Given the description of an element on the screen output the (x, y) to click on. 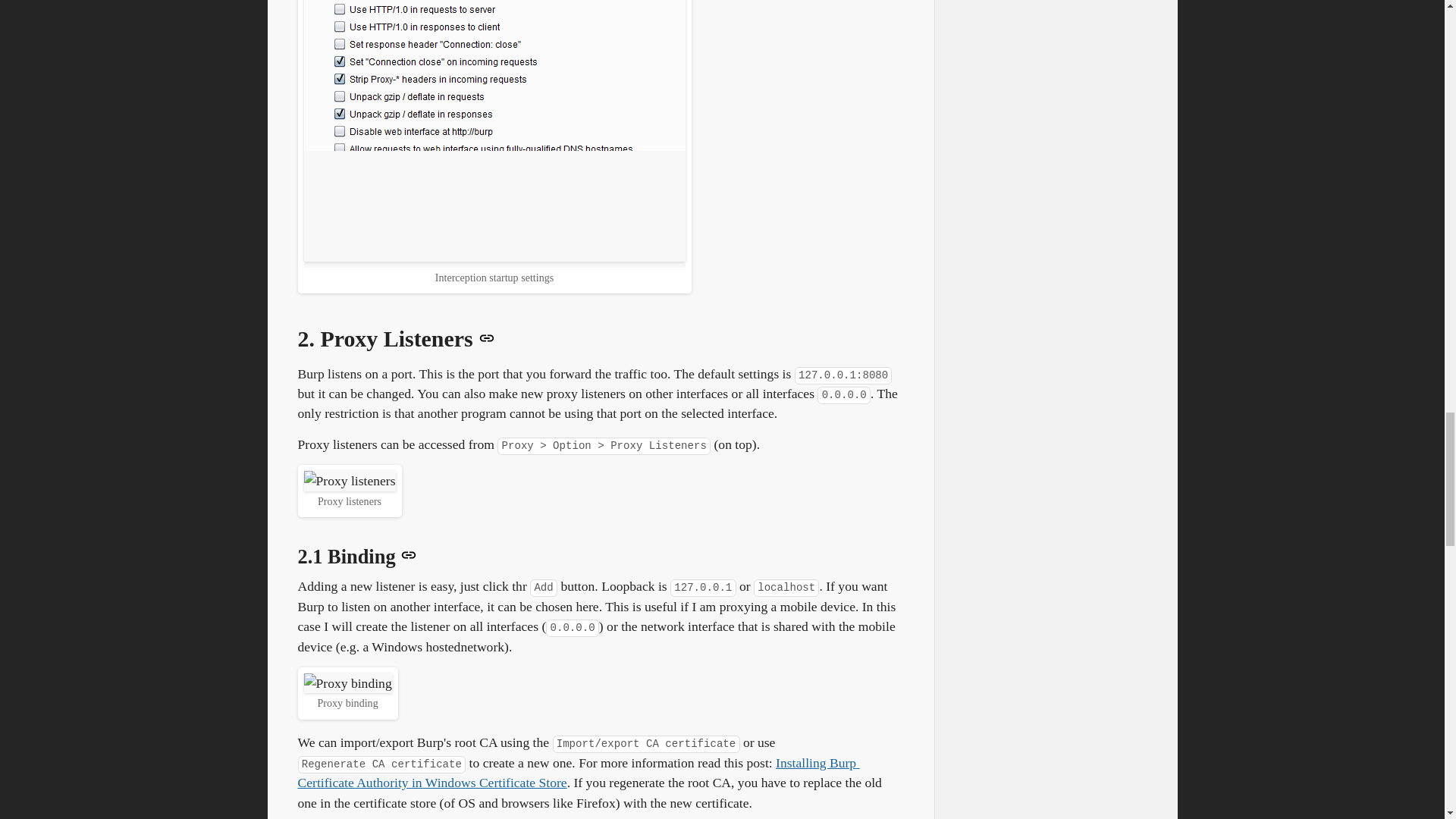
Proxy listeners (348, 480)
Interception startup settings (493, 130)
Proxy binding (346, 682)
